Given the description of an element on the screen output the (x, y) to click on. 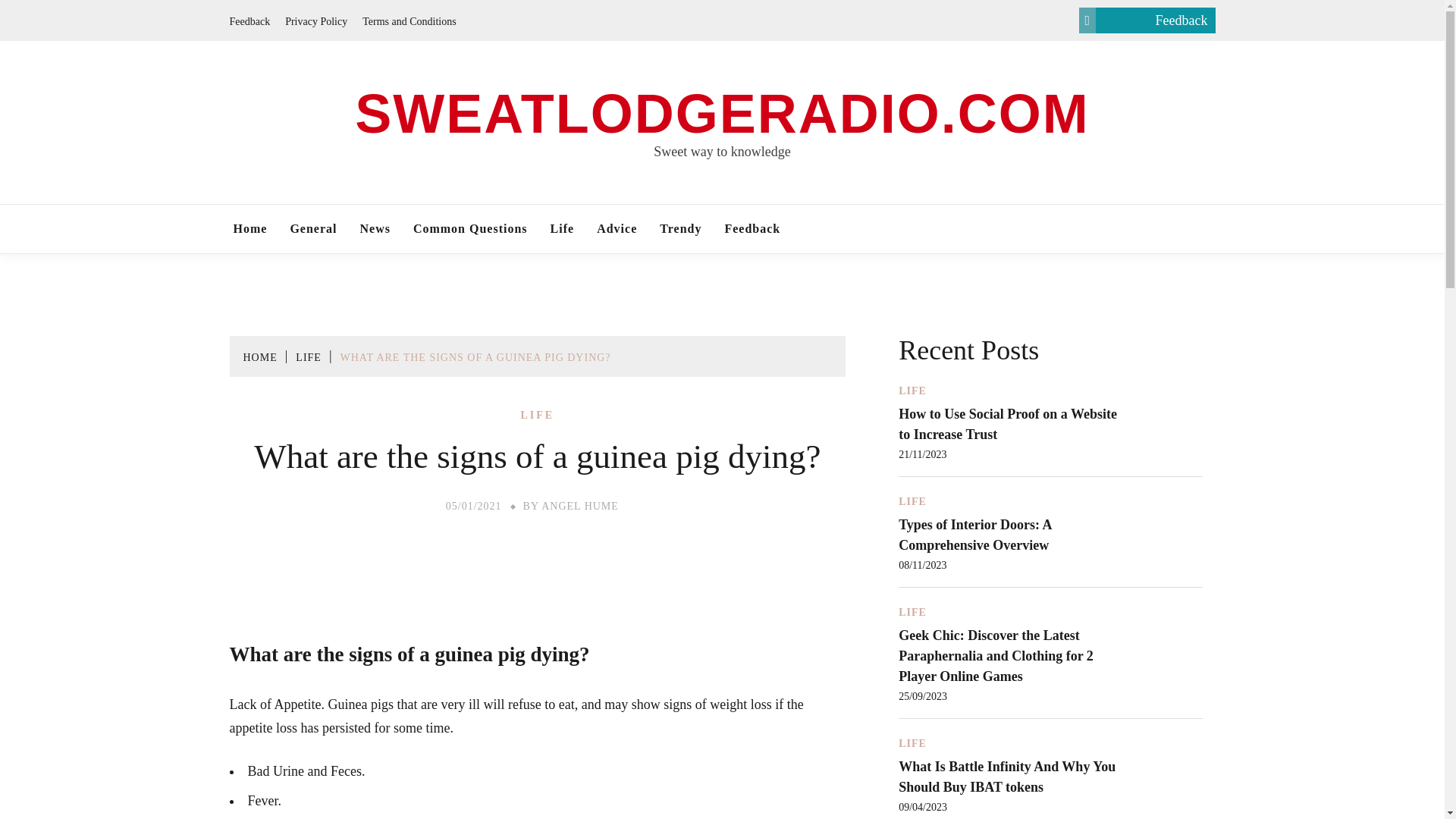
ANGEL HUME (579, 505)
How to Use Social Proof on a Website to Increase Trust (1007, 424)
SWEATLODGERADIO.COM (722, 113)
Feedback (752, 228)
LIFE (912, 612)
LIFE (308, 357)
WHAT ARE THE SIGNS OF A GUINEA PIG DYING? (475, 357)
Terms and Conditions (408, 20)
Types of Interior Doors: A Comprehensive Overview (974, 534)
LIFE (912, 390)
